Given the description of an element on the screen output the (x, y) to click on. 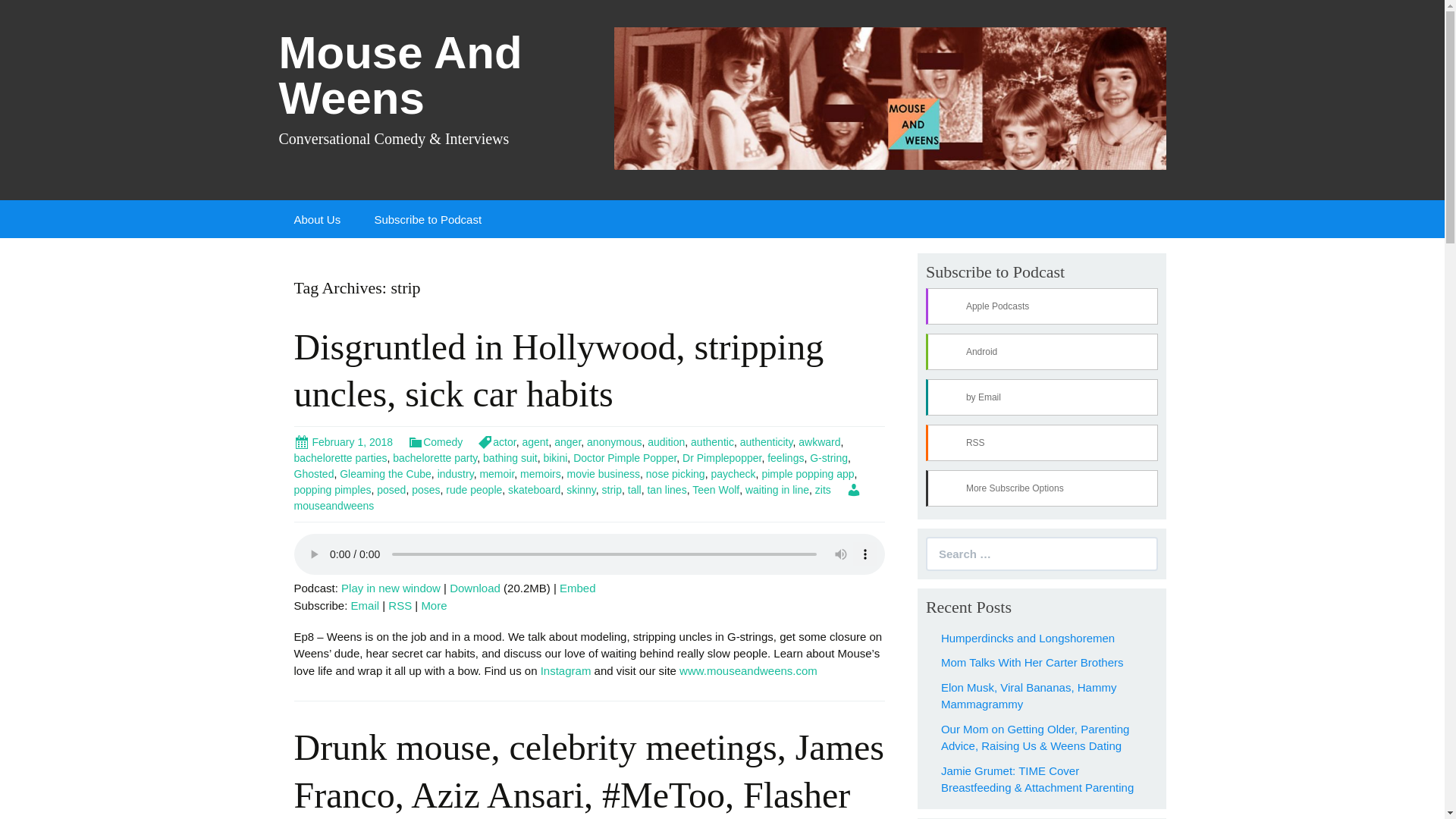
Subscribe by Email (365, 604)
bathing suit (510, 458)
About Us (317, 218)
Subscribe to Podcast (427, 218)
anger (567, 441)
skateboard (534, 490)
agent (534, 441)
memoirs (539, 473)
poses (425, 490)
